Given the description of an element on the screen output the (x, y) to click on. 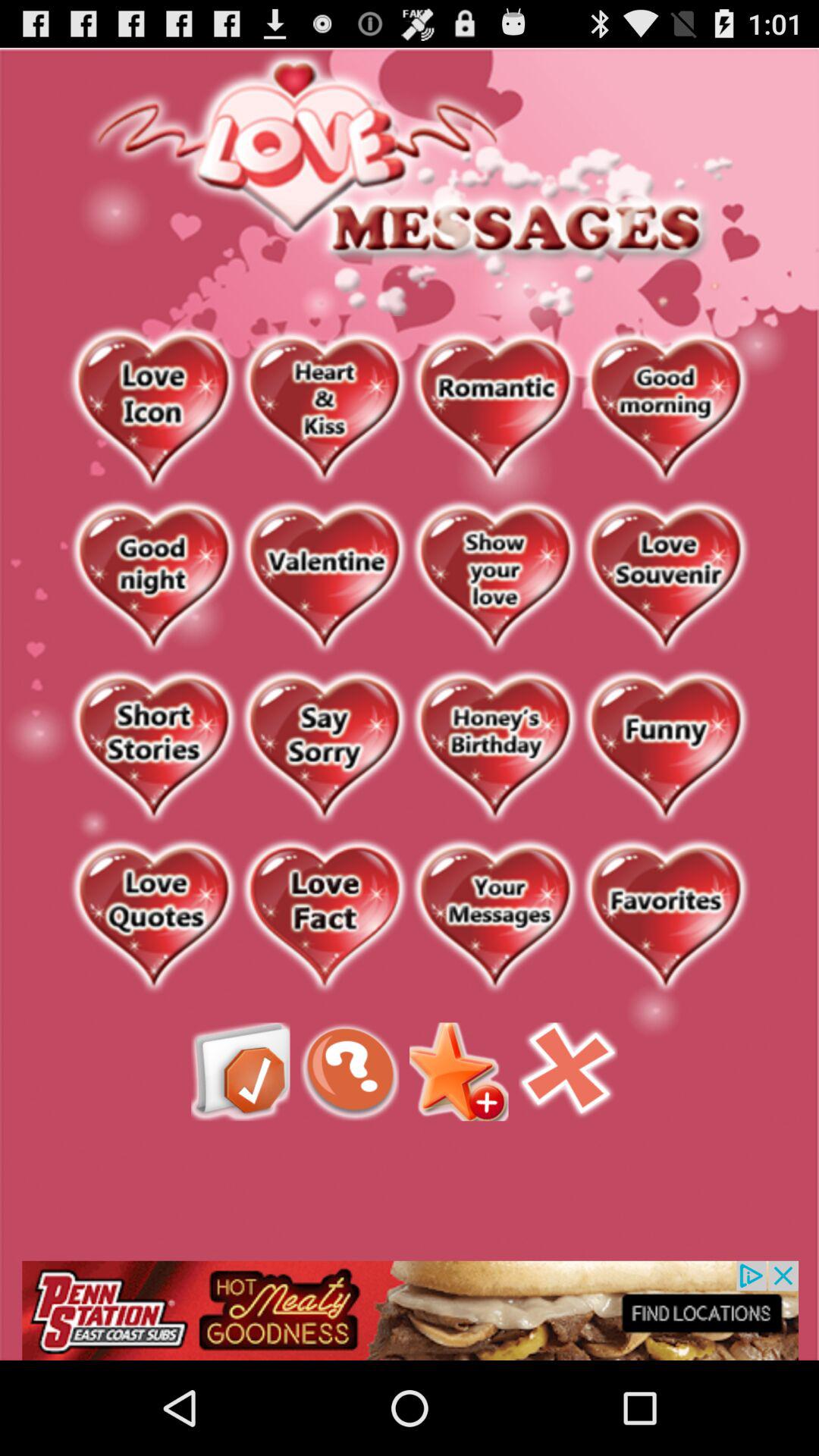
favorited (153, 917)
